Given the description of an element on the screen output the (x, y) to click on. 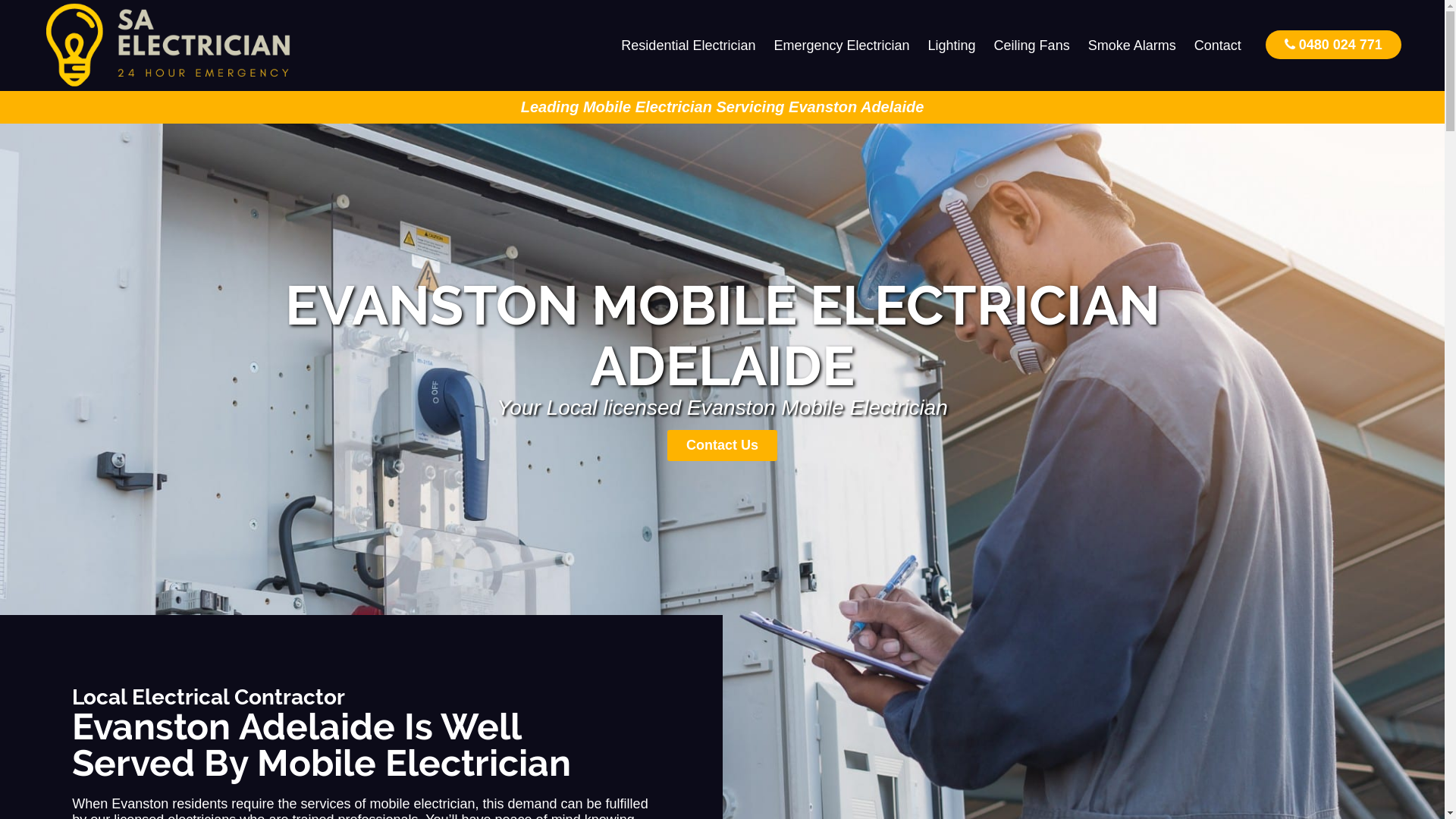
0480 024 771 Element type: text (1333, 44)
Lighting Element type: text (952, 45)
Emergency Electrician Element type: text (841, 45)
Ceiling Fans Element type: text (1032, 45)
Smoke Alarms Element type: text (1132, 45)
Contact Us Element type: text (722, 445)
Residential Electrician Element type: text (687, 45)
Contact Element type: text (1217, 45)
